Given the description of an element on the screen output the (x, y) to click on. 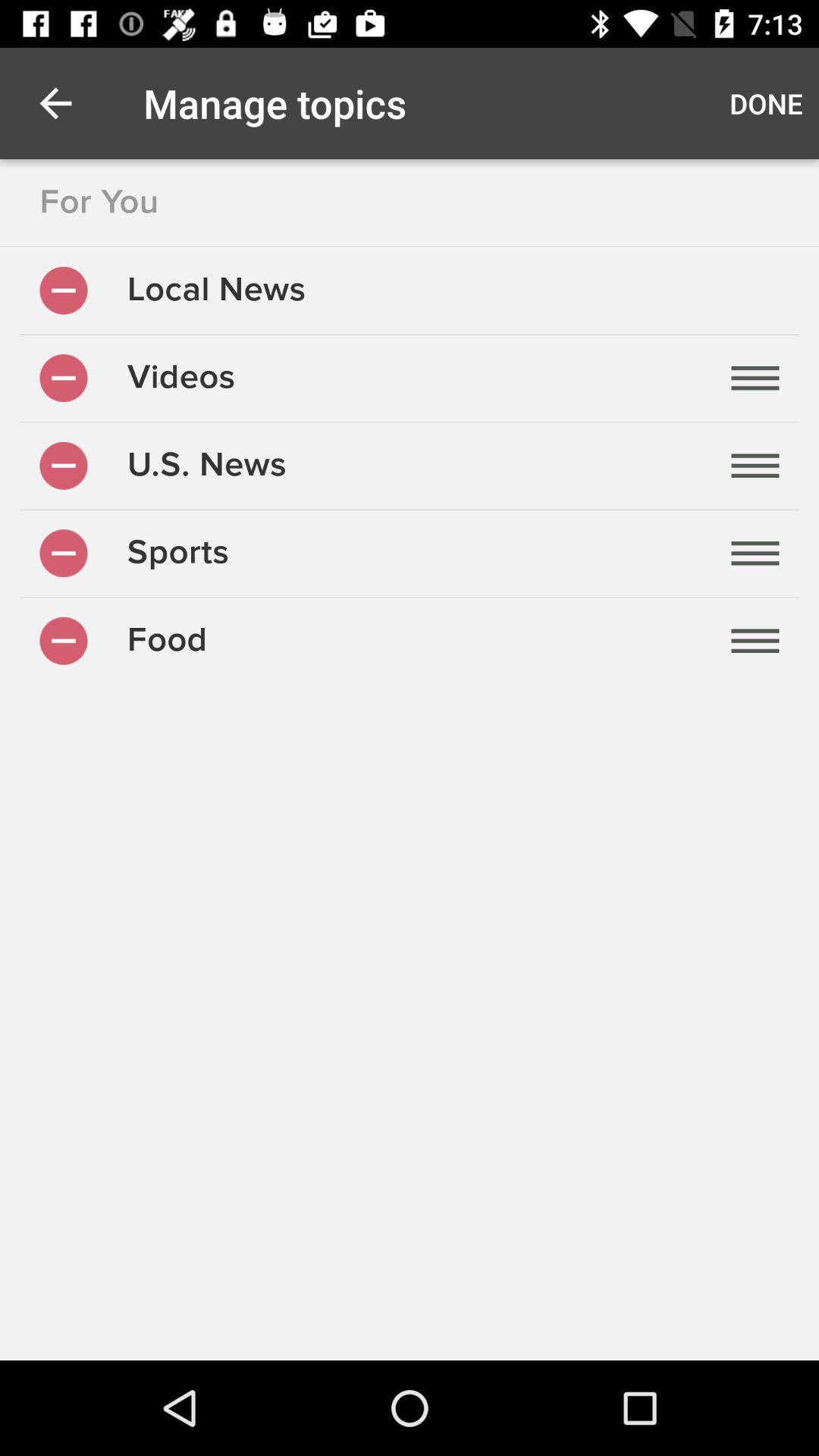
remove this category (63, 553)
